Given the description of an element on the screen output the (x, y) to click on. 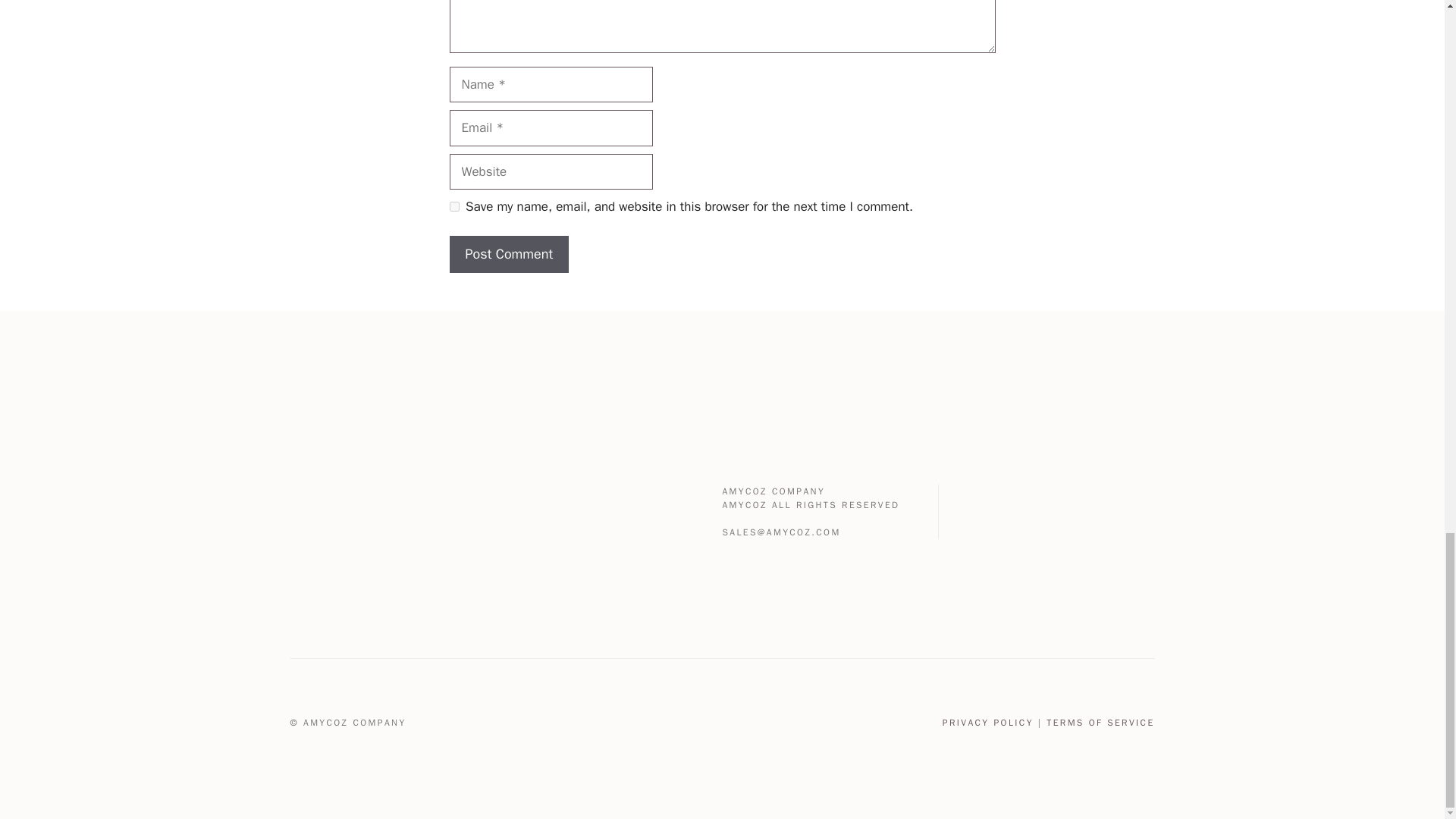
Post Comment (508, 253)
TERMS OF SERVICE (1100, 722)
PRIVACY POLICY (987, 722)
yes (453, 206)
Post Comment (508, 253)
